Given the description of an element on the screen output the (x, y) to click on. 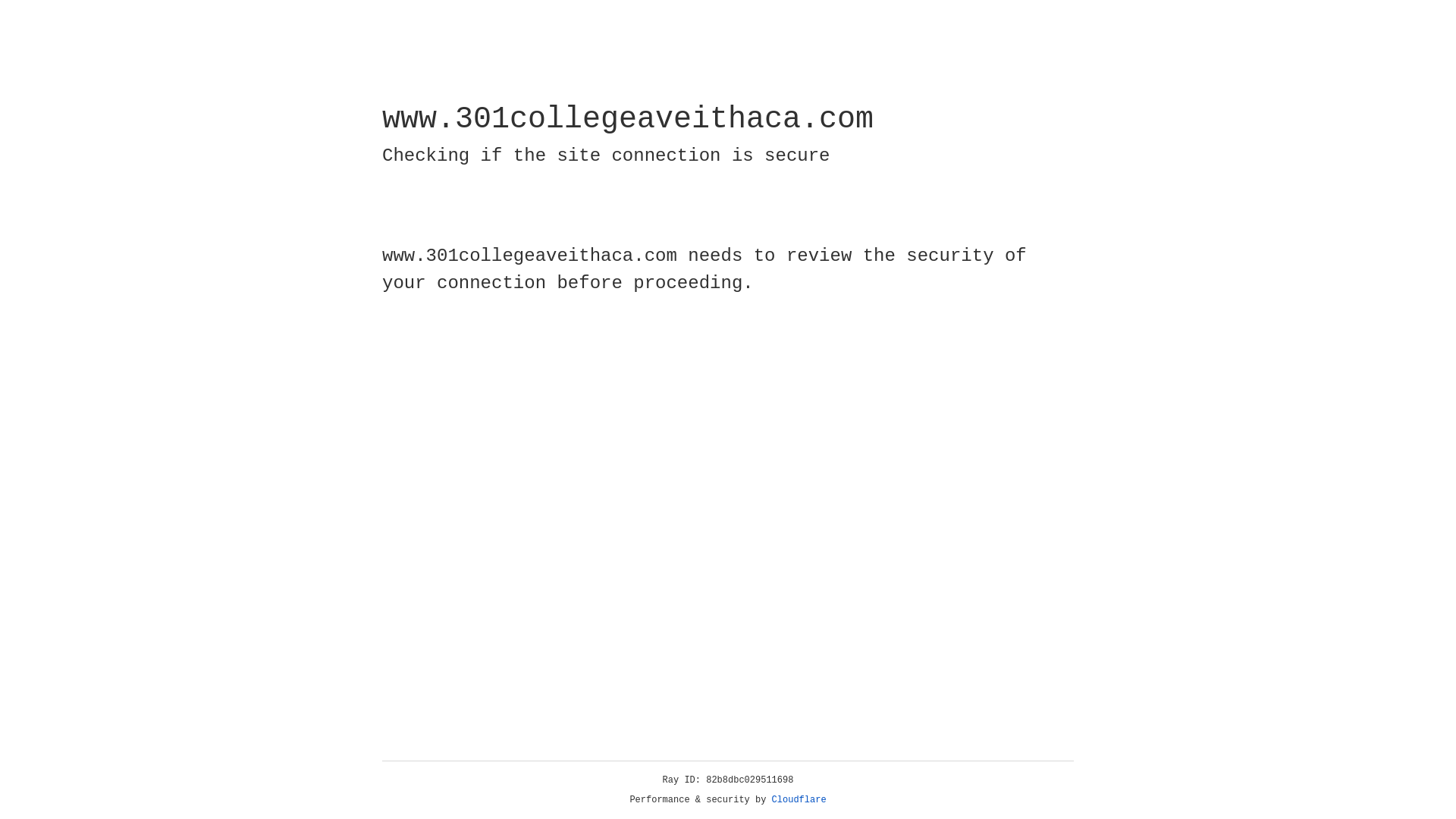
Cloudflare Element type: text (798, 799)
